Given the description of an element on the screen output the (x, y) to click on. 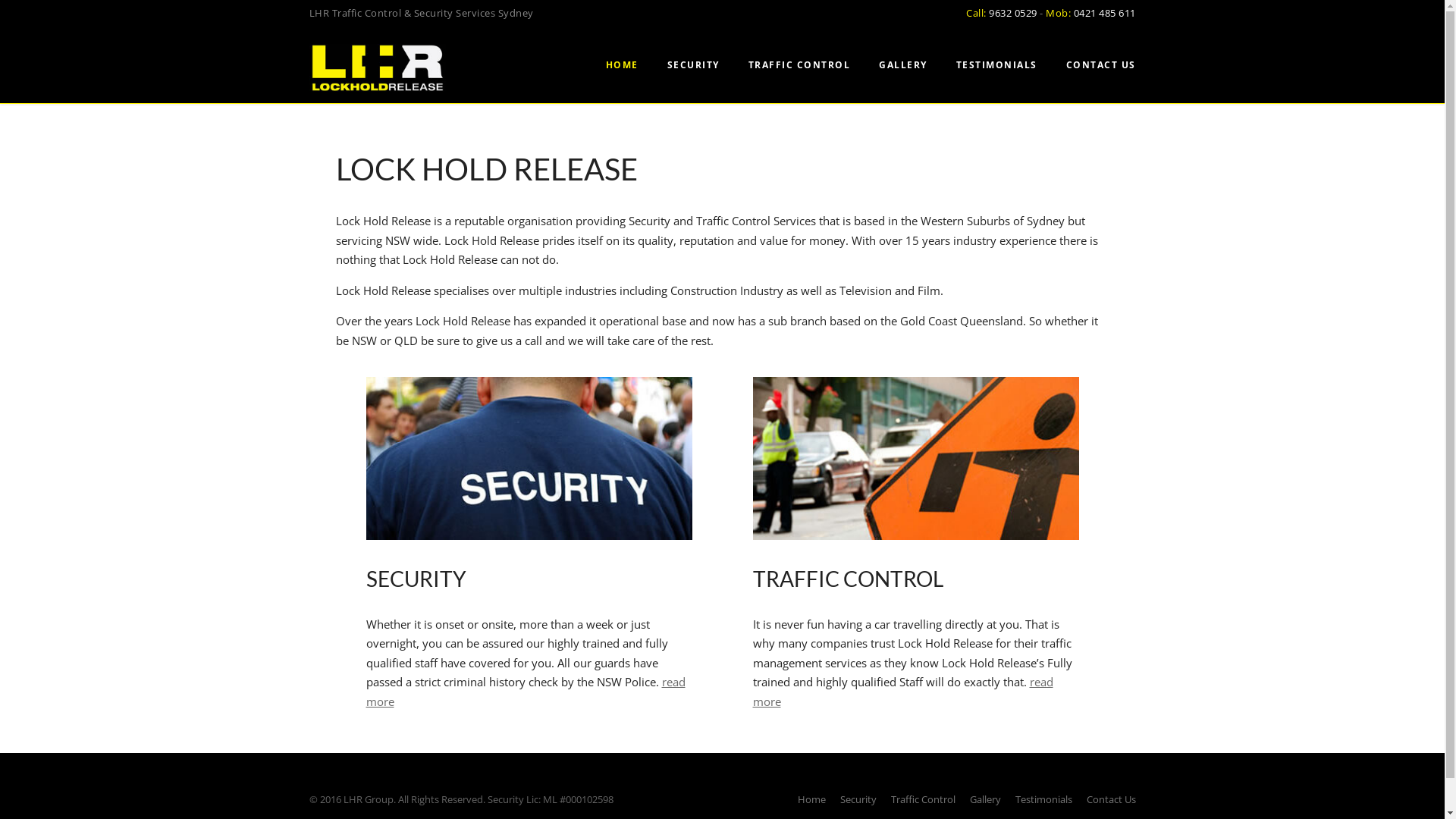
Contact Us Element type: text (1110, 798)
CONTACT US Element type: text (1093, 71)
Security Element type: text (858, 798)
read more Element type: text (902, 691)
0421 485 611 Element type: text (1104, 12)
Traffic Control Element type: text (922, 798)
security Element type: hover (528, 457)
LHR Group Element type: hover (377, 66)
TRAFFIC CONTROL Element type: text (799, 71)
Testimonials Element type: text (1042, 798)
SECURITY Element type: text (692, 71)
traffic control Element type: hover (915, 457)
9632 0529 Element type: text (1012, 12)
TESTIMONIALS Element type: text (996, 71)
GALLERY Element type: text (903, 71)
HOME Element type: text (622, 71)
Gallery Element type: text (984, 798)
Home Element type: text (811, 798)
Skip to content Element type: text (39, 9)
read more Element type: text (524, 691)
